Given the description of an element on the screen output the (x, y) to click on. 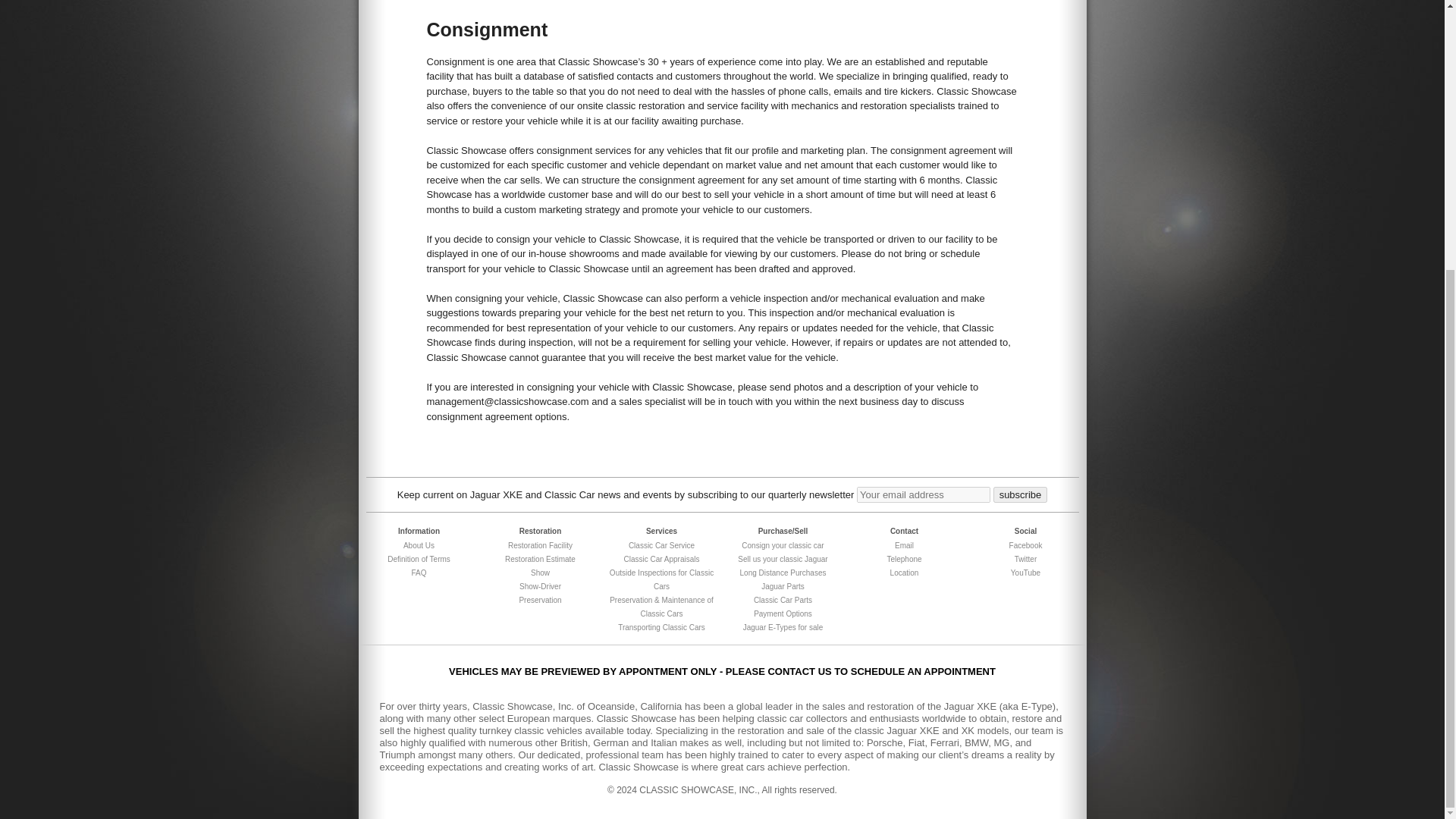
FAQ (418, 572)
Definition of Terms (418, 559)
subscribe (1020, 494)
About Us (418, 545)
subscribe (1020, 494)
Restoration Facility (540, 545)
